Given the description of an element on the screen output the (x, y) to click on. 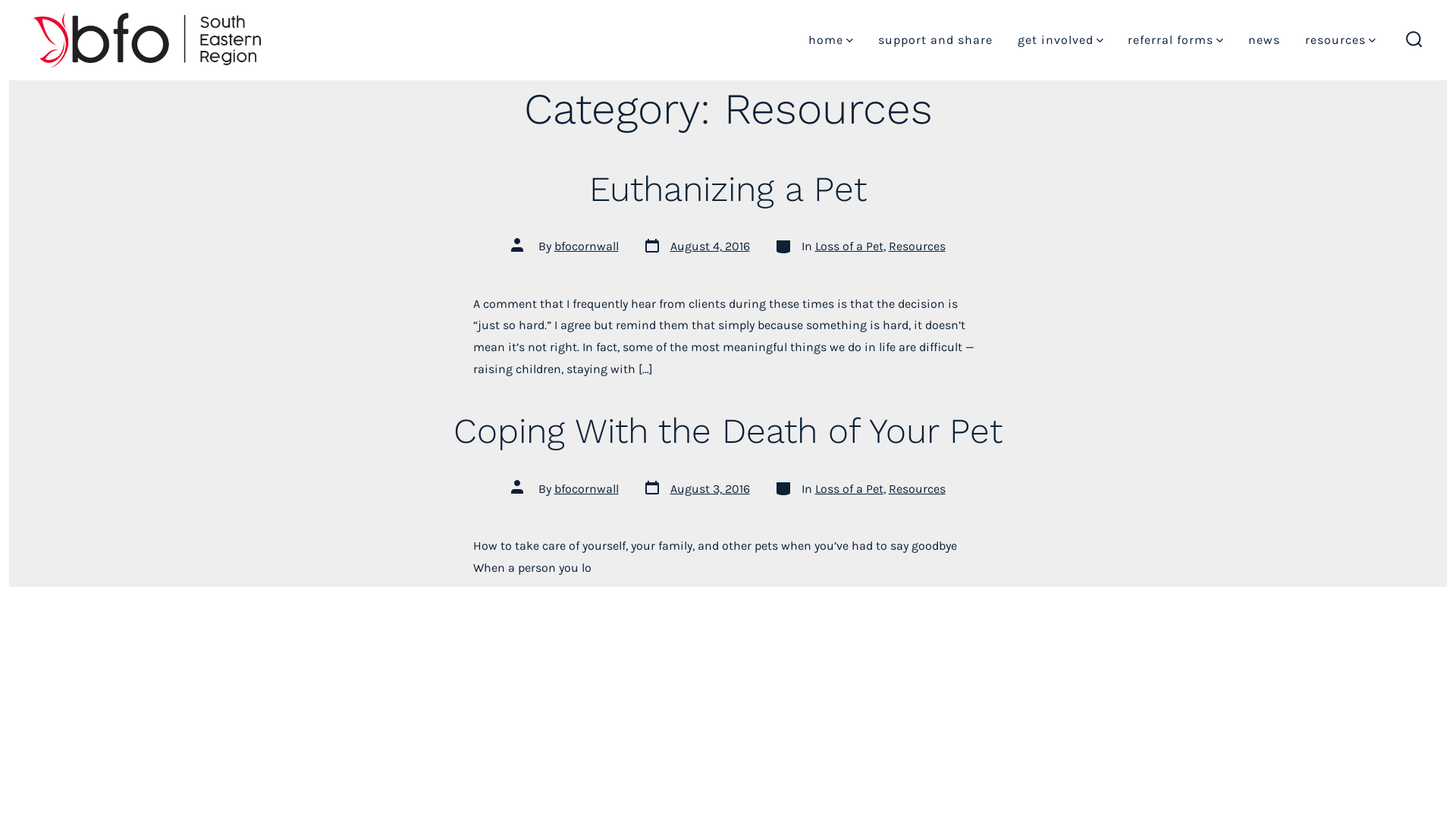
Post date
August 4, 2016 Element type: text (696, 246)
bfocornwall Element type: text (585, 488)
Resources Element type: text (916, 245)
get involved Element type: text (1060, 40)
Post date
August 3, 2016 Element type: text (696, 488)
resources Element type: text (1340, 40)
Resources Element type: text (916, 488)
Coping With the Death of Your Pet Element type: text (727, 430)
home Element type: text (830, 40)
news Element type: text (1264, 40)
search toggle Element type: text (1413, 40)
Loss of a Pet Element type: text (848, 488)
bfocornwall Element type: text (585, 245)
support and share Element type: text (935, 40)
referral forms Element type: text (1175, 40)
Loss of a Pet Element type: text (848, 245)
Euthanizing a Pet Element type: text (727, 188)
